Given the description of an element on the screen output the (x, y) to click on. 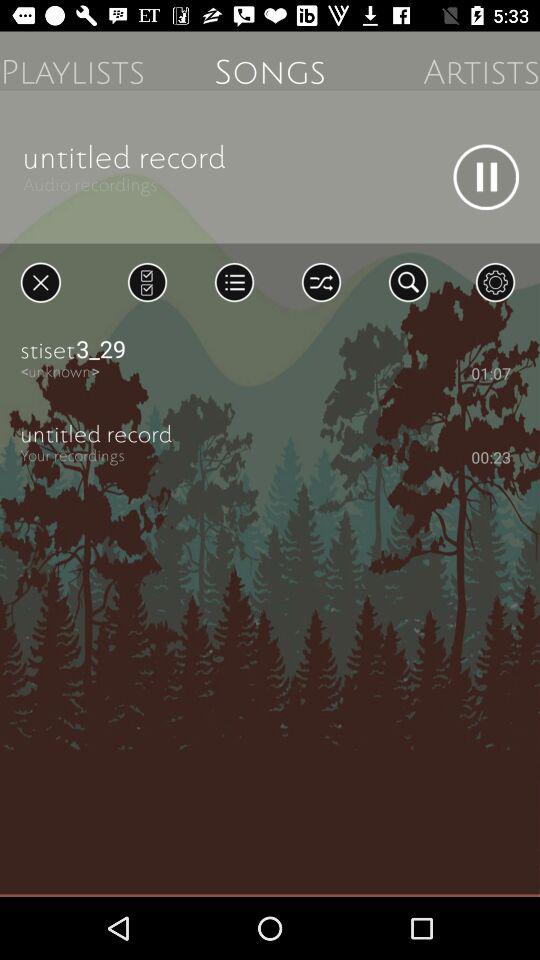
pause button (486, 177)
